Given the description of an element on the screen output the (x, y) to click on. 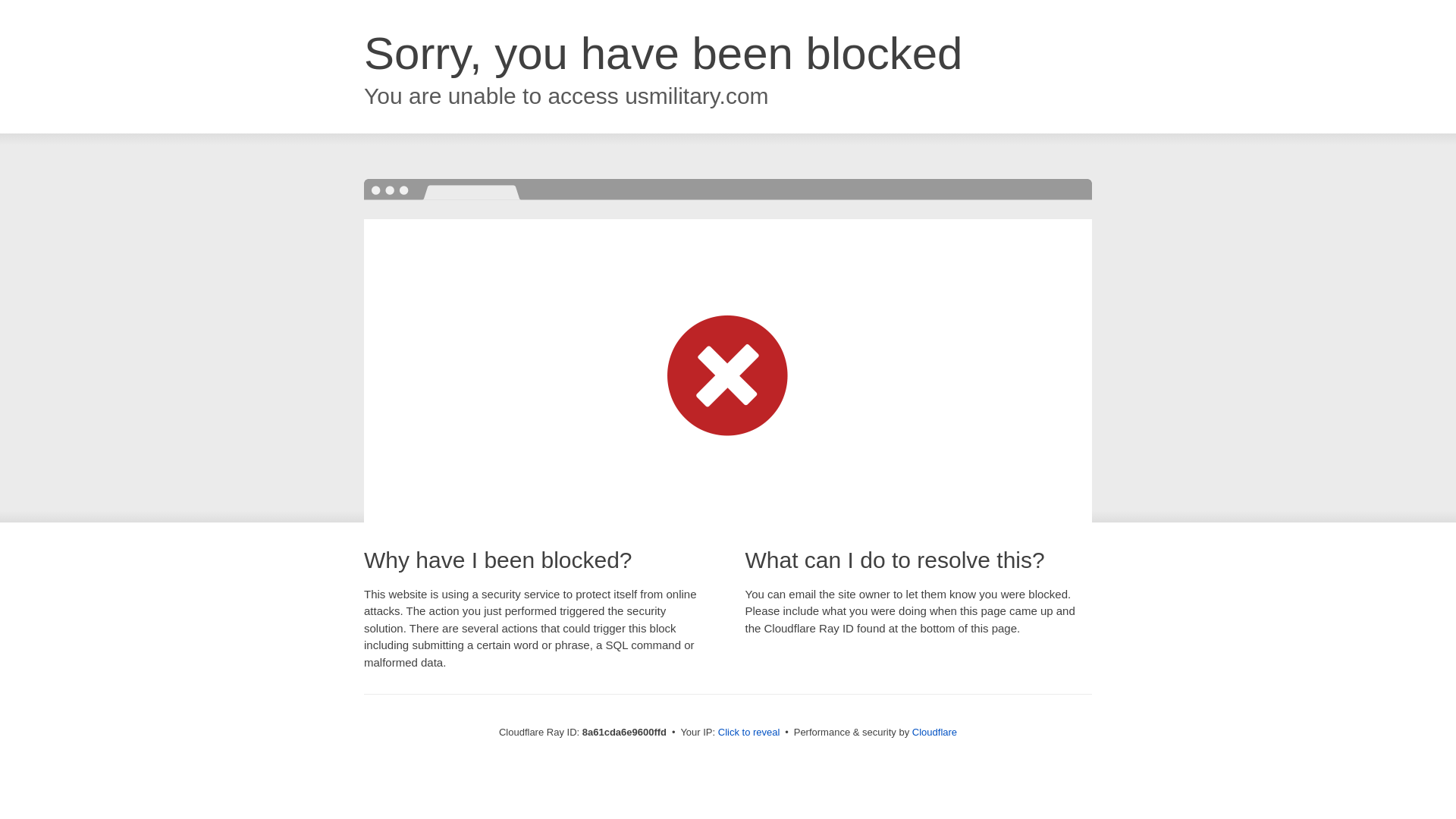
Click to reveal (748, 732)
Cloudflare (934, 731)
